Given the description of an element on the screen output the (x, y) to click on. 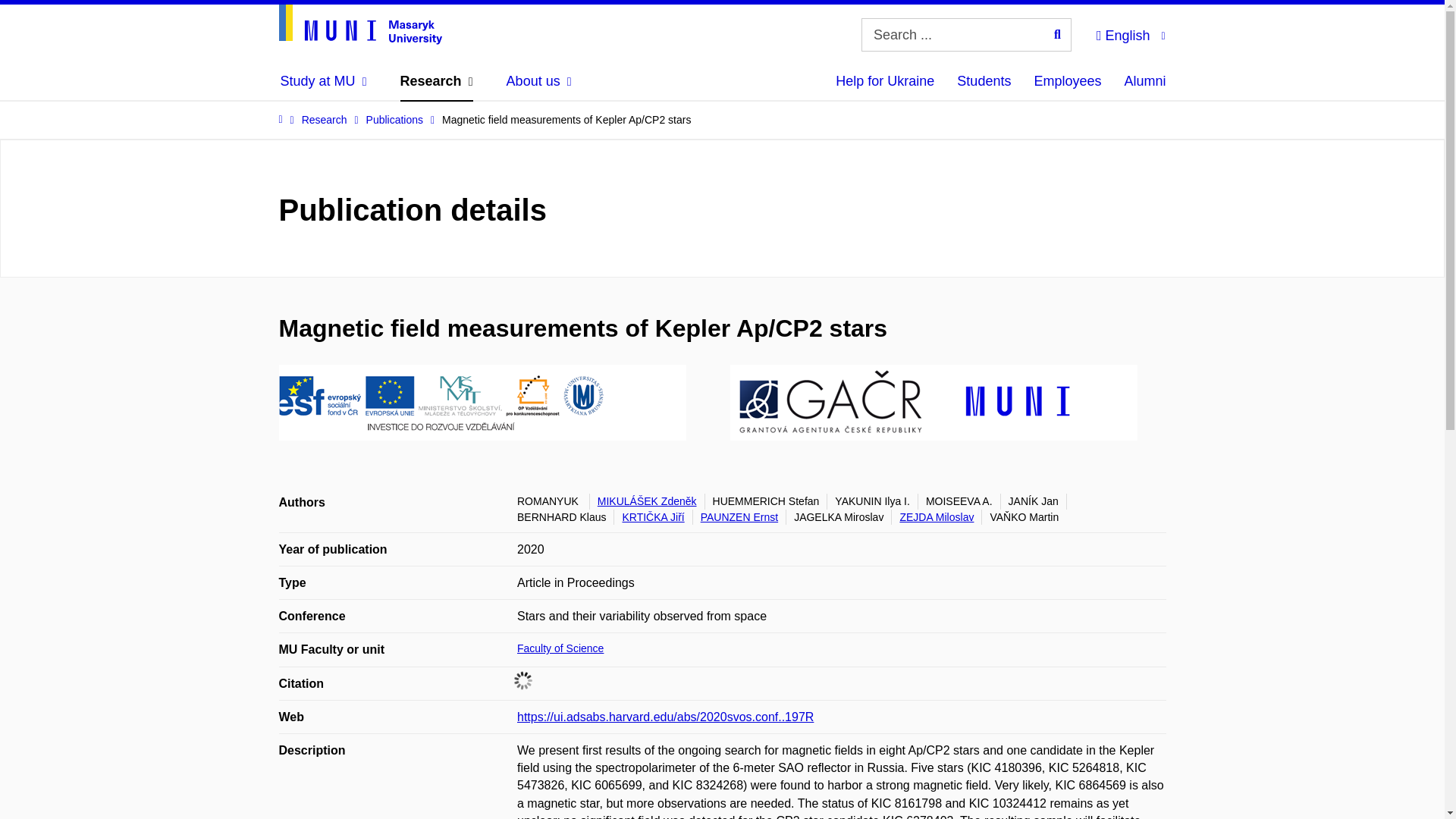
Research (436, 80)
Homepage site (360, 24)
English (1130, 34)
Study at MU (323, 80)
